Given the description of an element on the screen output the (x, y) to click on. 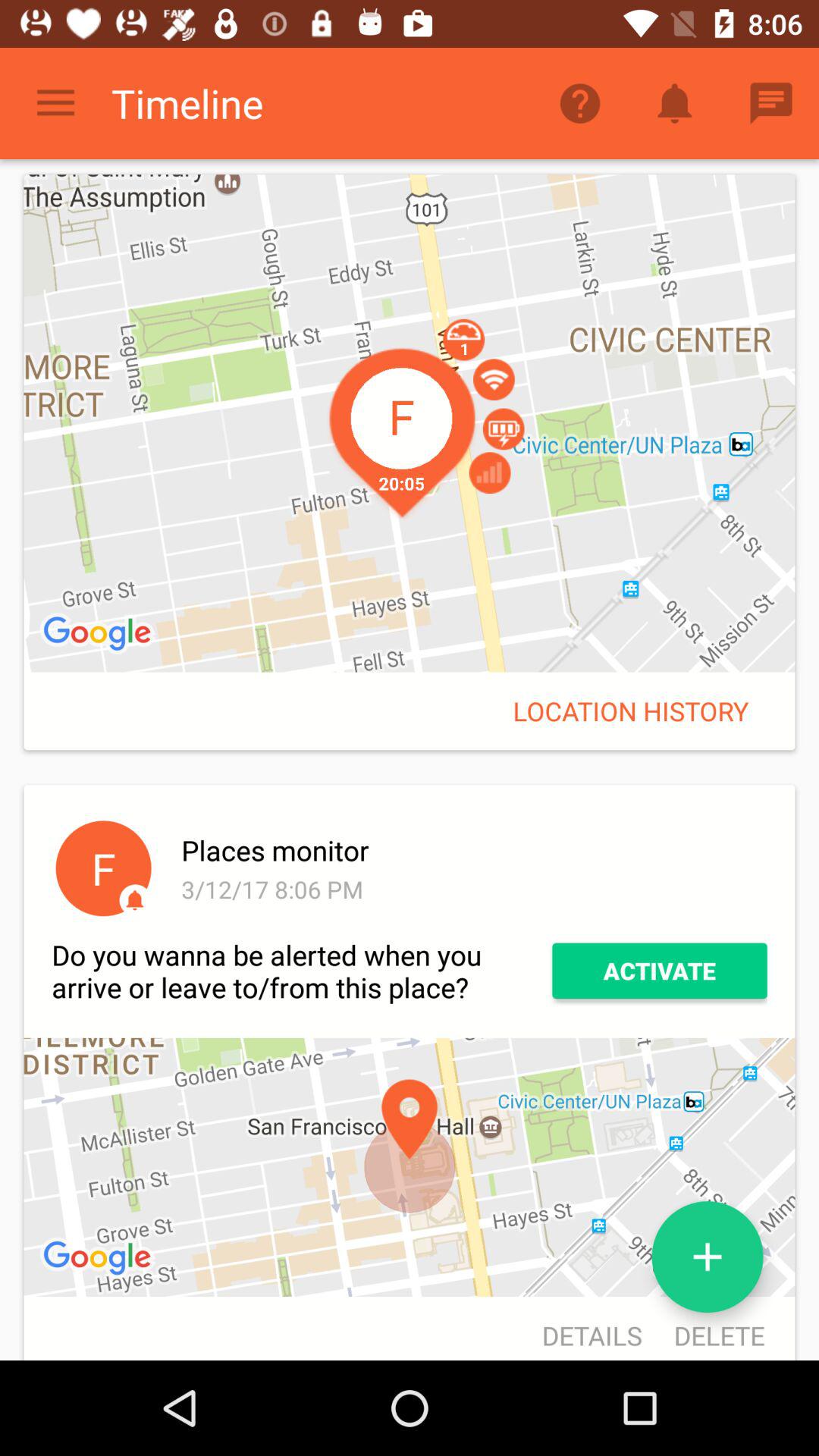
jump until the delete icon (711, 1330)
